Given the description of an element on the screen output the (x, y) to click on. 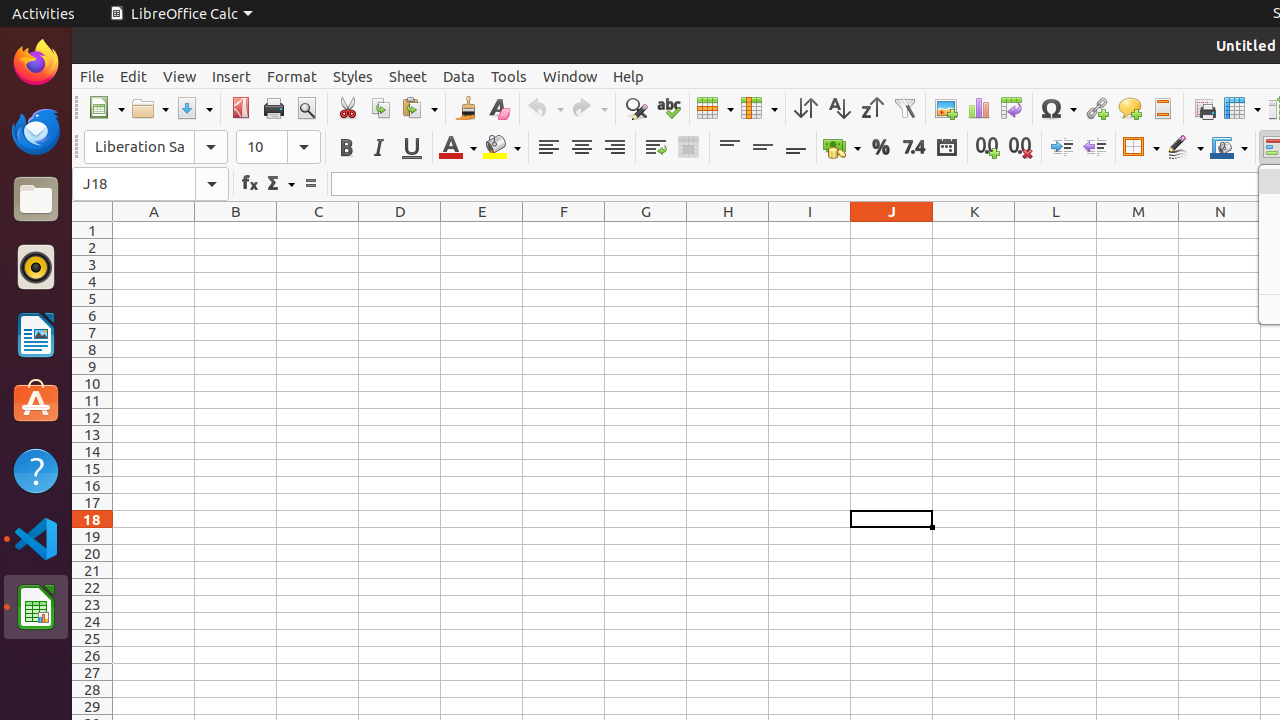
luyi1 Element type: label (133, 89)
Activities Element type: label (43, 13)
Trash Element type: label (133, 191)
